Given the description of an element on the screen output the (x, y) to click on. 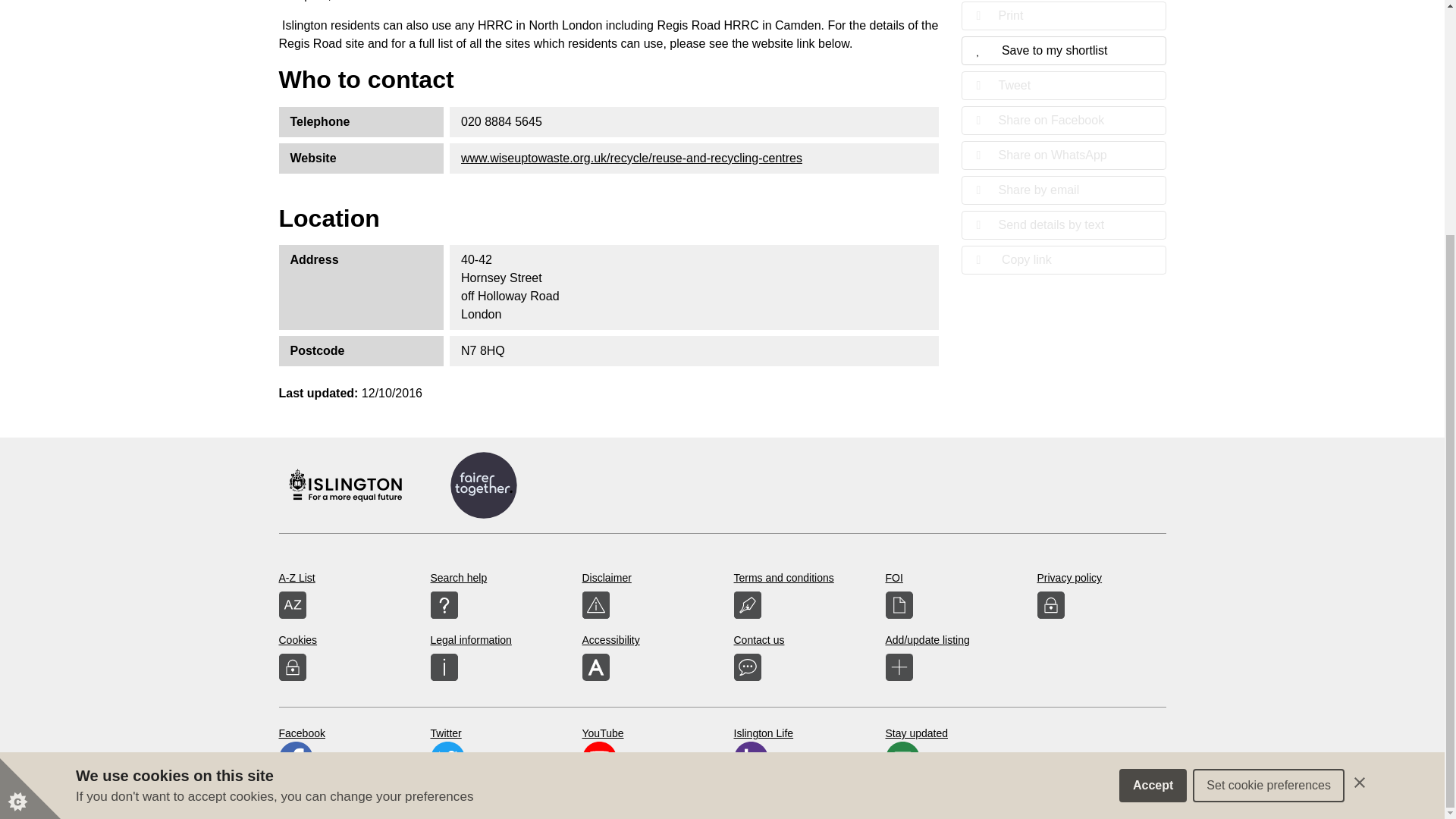
Quick exit (1344, 464)
Cookie Control Icon (30, 468)
